Given the description of an element on the screen output the (x, y) to click on. 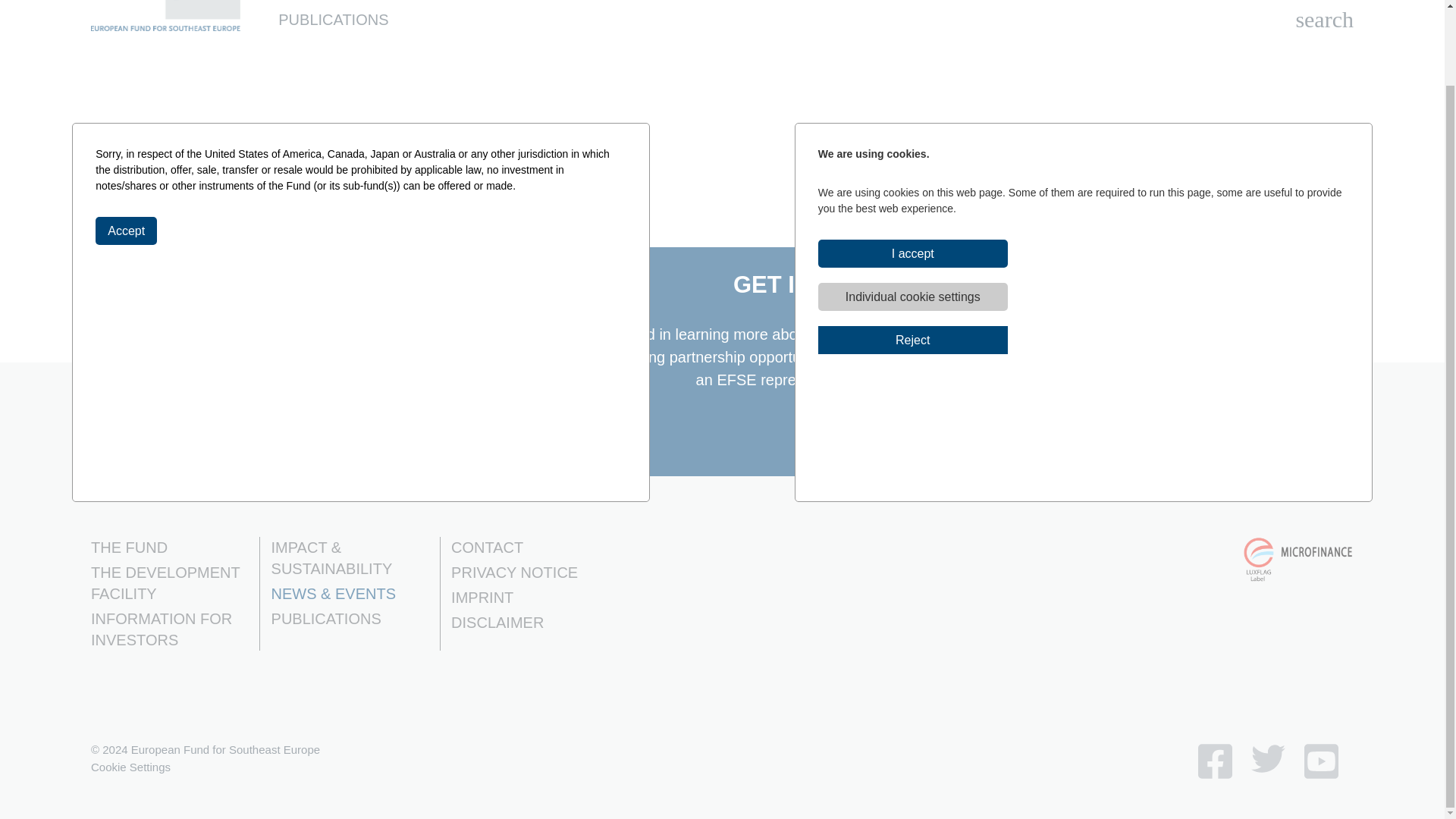
Individual cookie settings (912, 212)
Accept (126, 146)
I accept (912, 169)
Reject (912, 255)
Search (1324, 19)
PUBLICATIONS (333, 19)
